Given the description of an element on the screen output the (x, y) to click on. 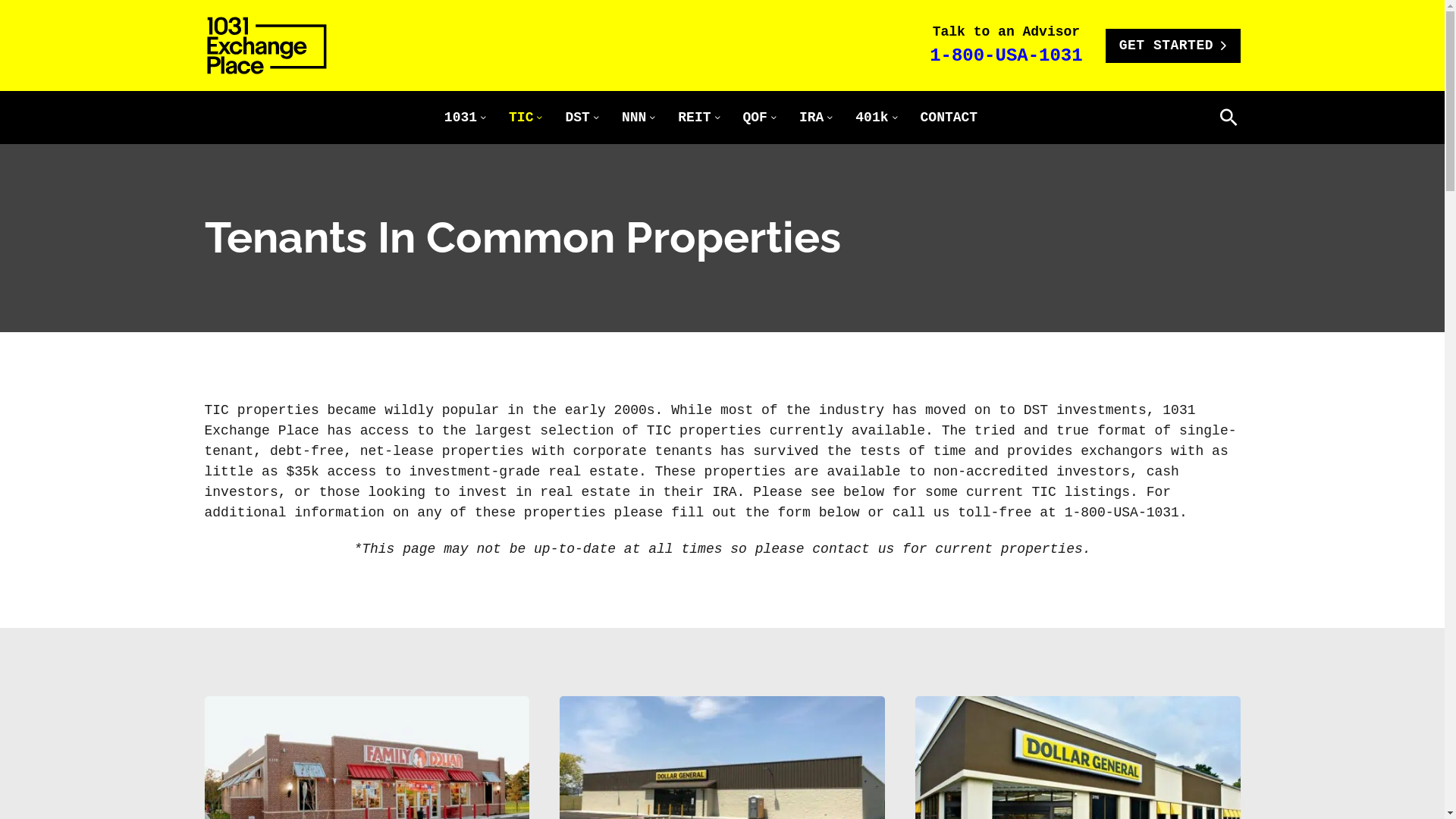
NNN Element type: text (633, 117)
REIT Element type: text (693, 117)
CONTACT Element type: text (949, 117)
GET STARTED Element type: text (1172, 45)
1031 Element type: text (460, 117)
QOF Element type: text (755, 117)
TIC Element type: text (520, 117)
DST Element type: text (576, 117)
1-800-USA-1031 Element type: text (1005, 55)
401k Element type: text (871, 117)
IRA Element type: text (811, 117)
